Given the description of an element on the screen output the (x, y) to click on. 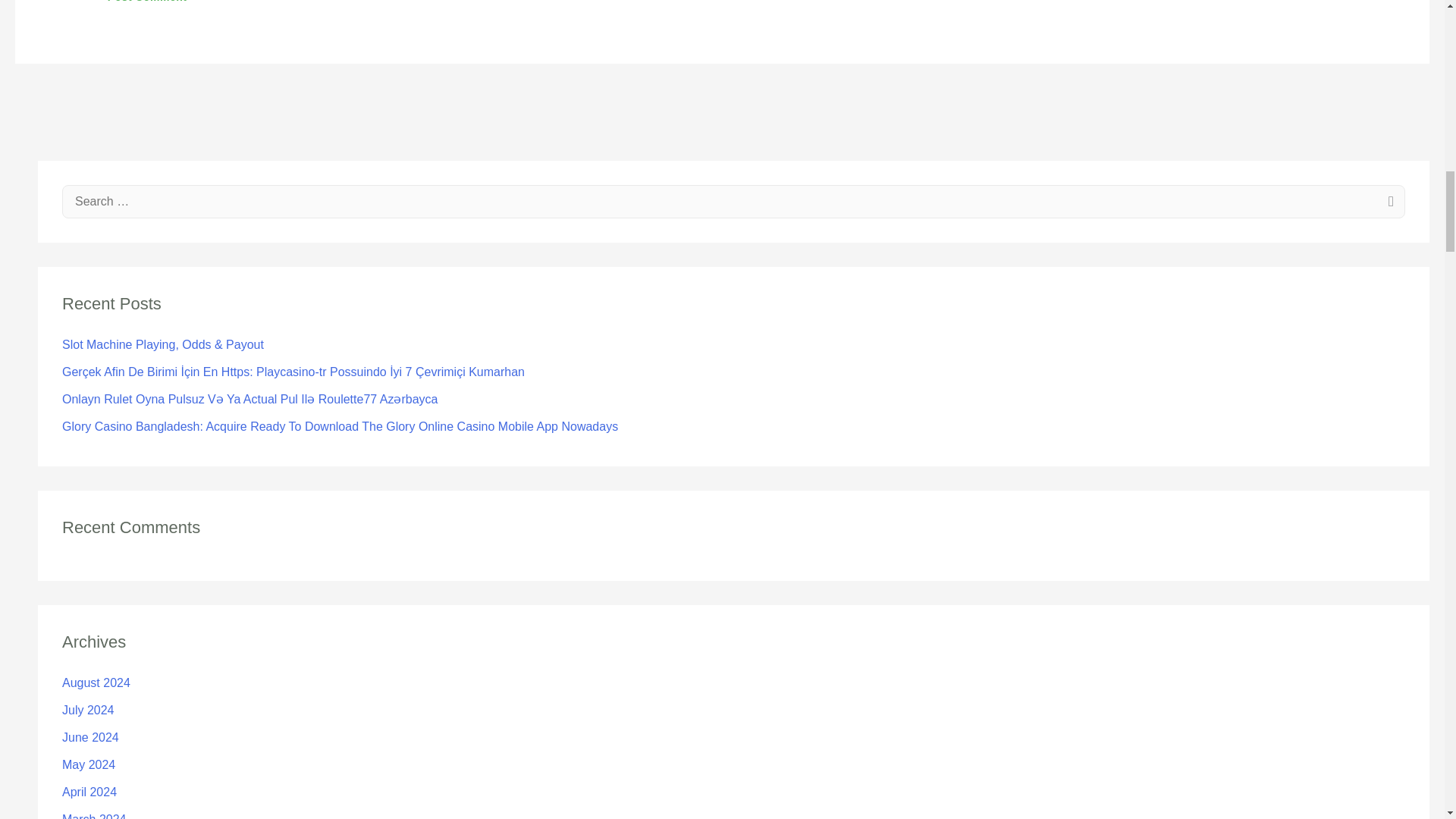
August 2024 (96, 682)
June 2024 (90, 737)
March 2024 (94, 816)
July 2024 (88, 709)
May 2024 (88, 764)
April 2024 (89, 791)
